Given the description of an element on the screen output the (x, y) to click on. 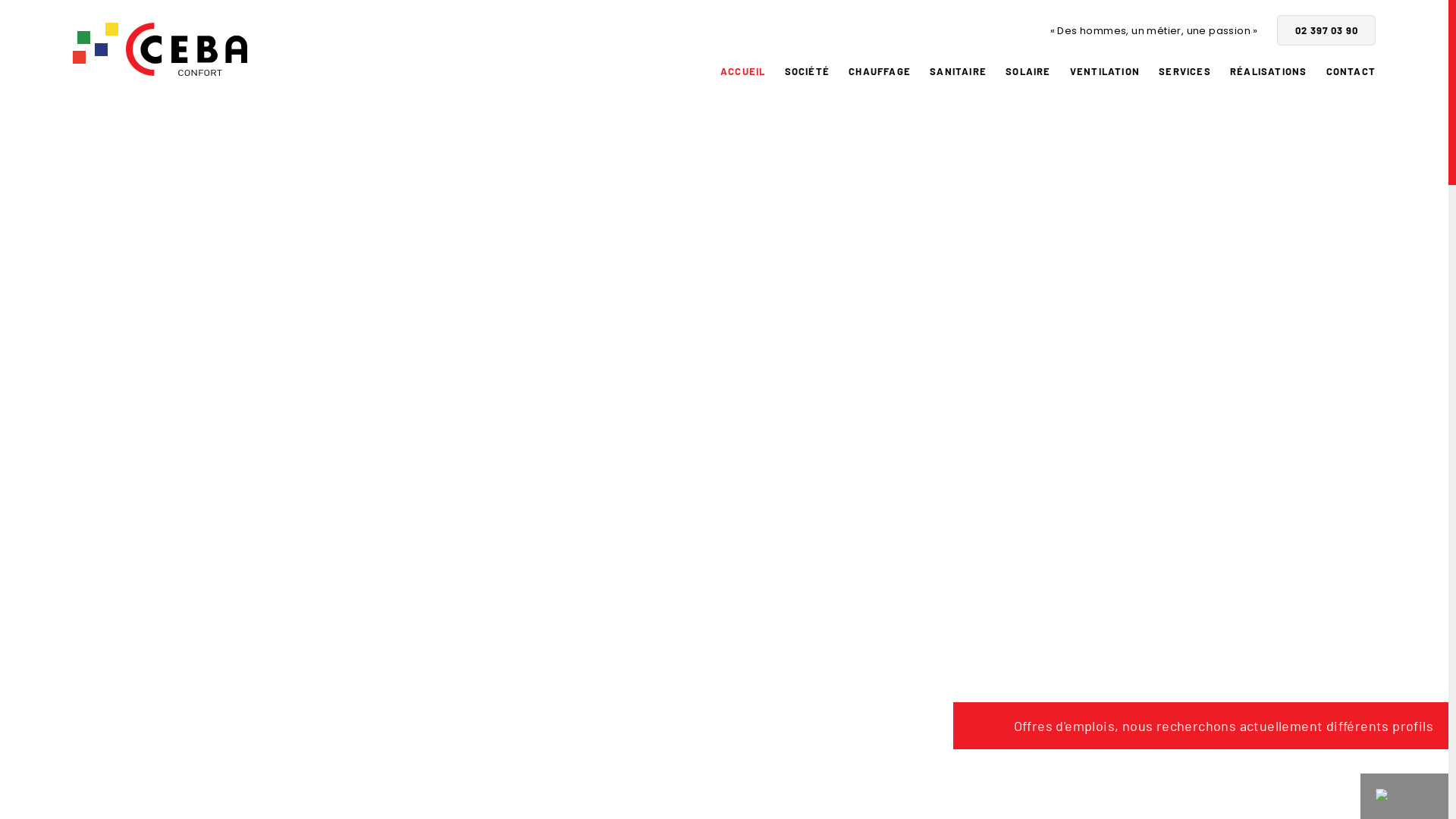
VENTILATION Element type: text (1104, 71)
SANITAIRE Element type: text (957, 71)
CHAUFFAGE Element type: text (879, 71)
ACCUEIL Element type: text (742, 71)
CEBA Confort Element type: hover (159, 48)
SOLAIRE Element type: text (1027, 71)
SERVICES Element type: text (1184, 71)
CONTACT Element type: text (1350, 71)
02 397 03 90 Element type: text (1326, 30)
